Given the description of an element on the screen output the (x, y) to click on. 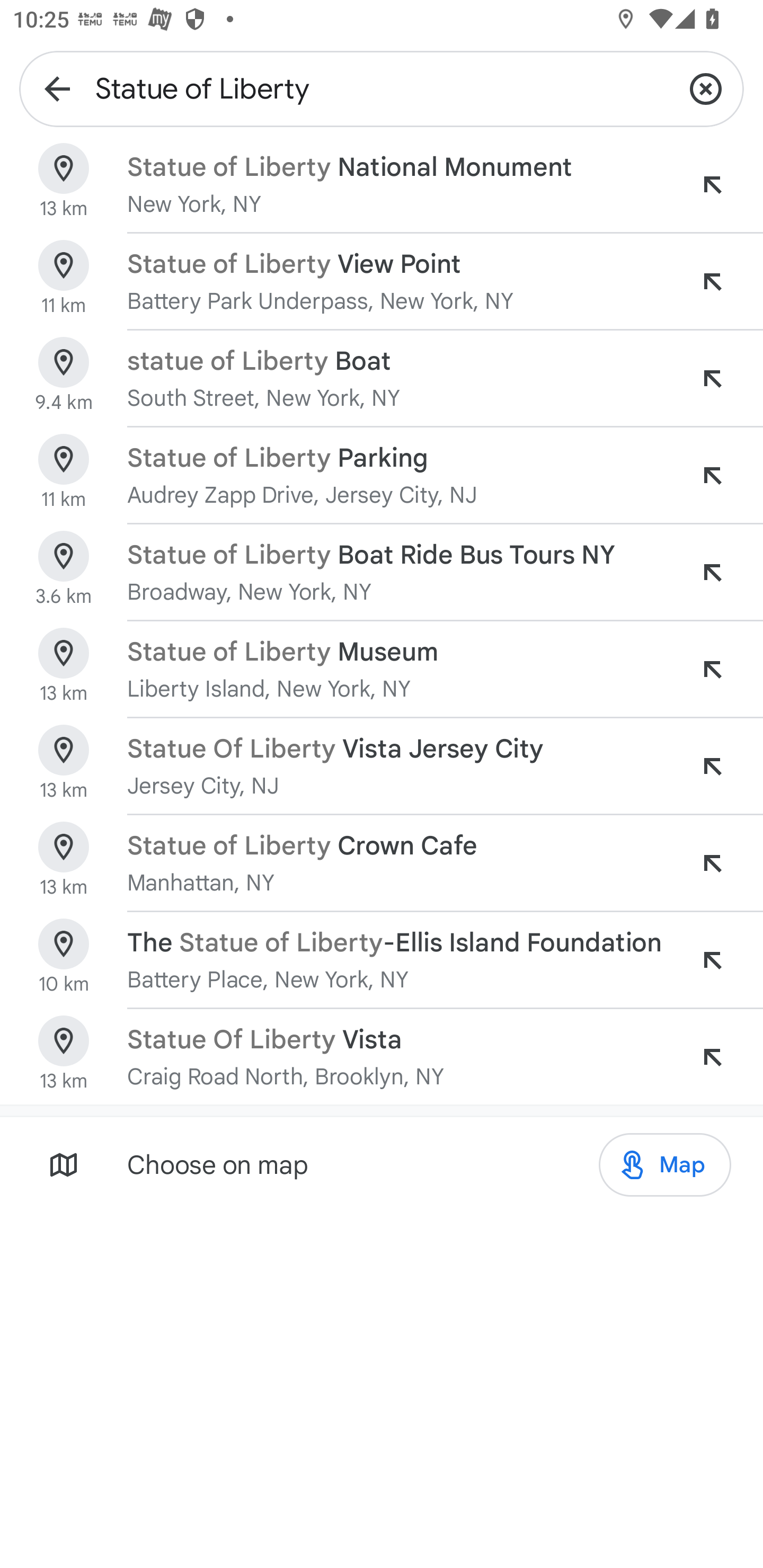
Navigate up (57, 88)
Statue of Liberty (381, 88)
Clear (705, 88)
Choose on map Map Map Map (381, 1164)
Map Map Map (664, 1164)
